Given the description of an element on the screen output the (x, y) to click on. 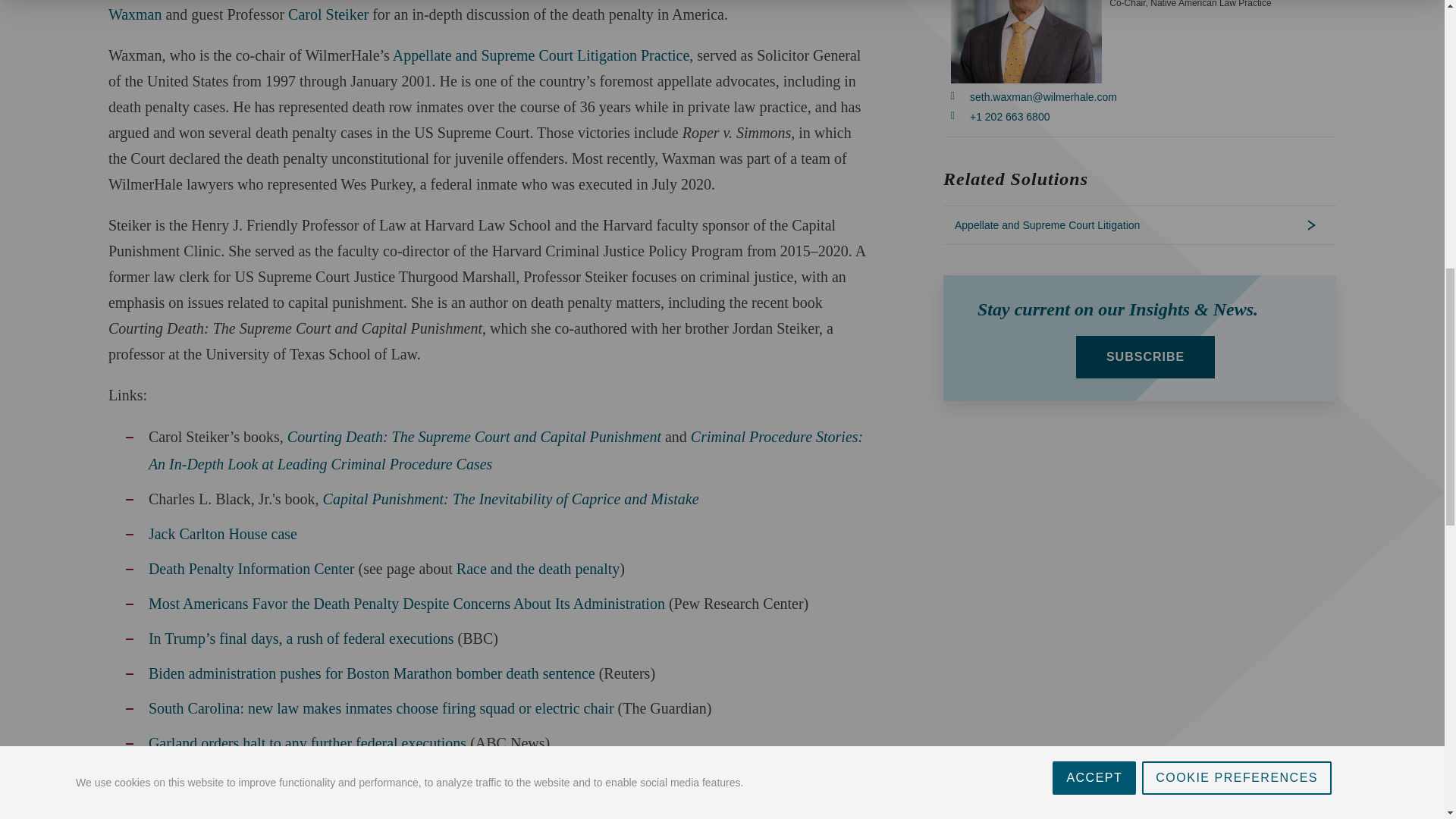
Subscribe to the In the Public Interest Podcast (222, 793)
Appellate and Supreme Court Litigation Practice (541, 54)
Carol Steiker (328, 13)
ACCEPT (1093, 3)
Seth Waxman (464, 11)
Courting Death: The Supreme Court and Capital Punishment (473, 436)
